Given the description of an element on the screen output the (x, y) to click on. 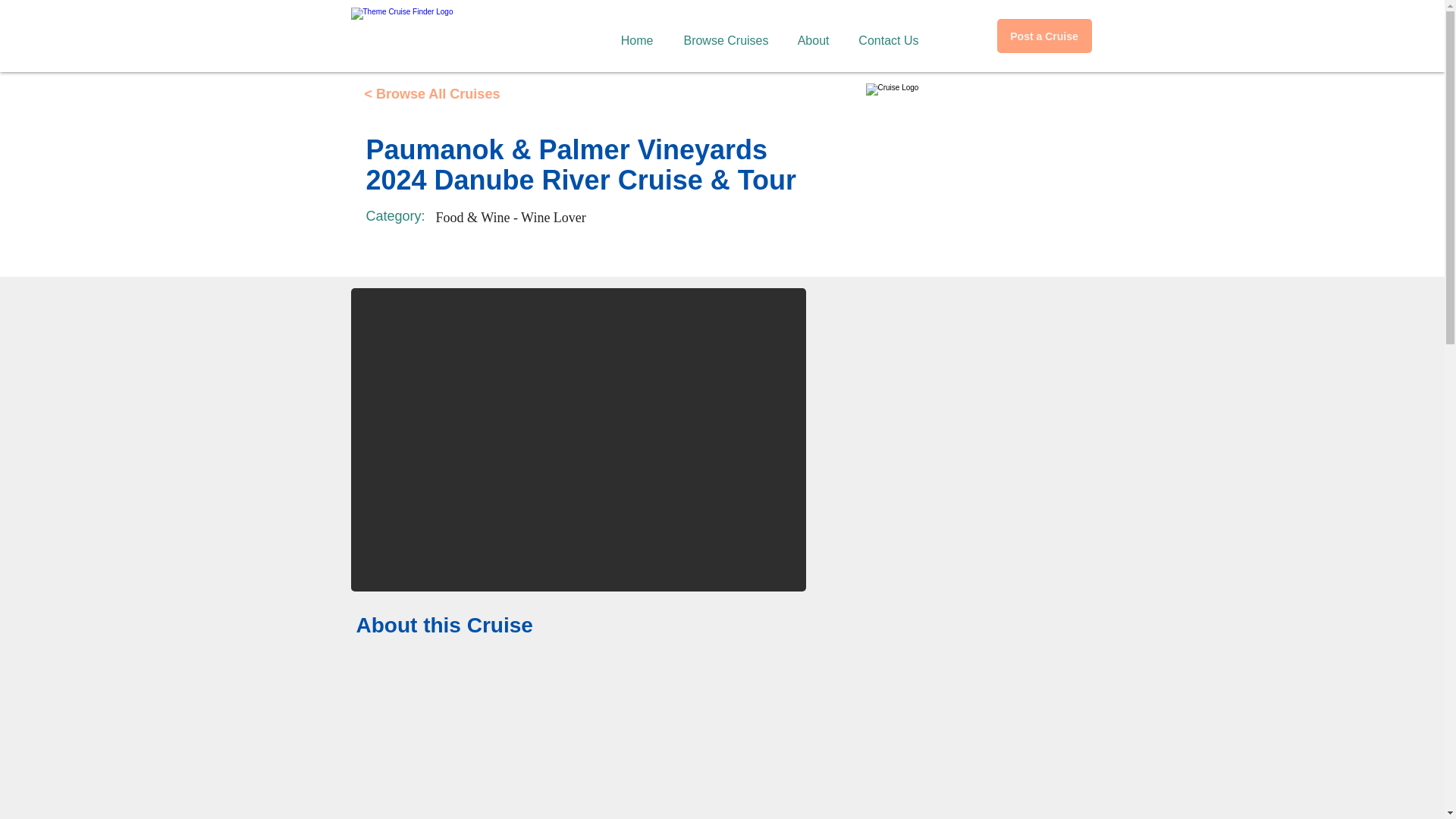
Post a Cruise (1042, 35)
Contact Us (883, 33)
food and wine trails logo.jpg (979, 159)
Browse Cruises (719, 33)
Home (632, 33)
